Given the description of an element on the screen output the (x, y) to click on. 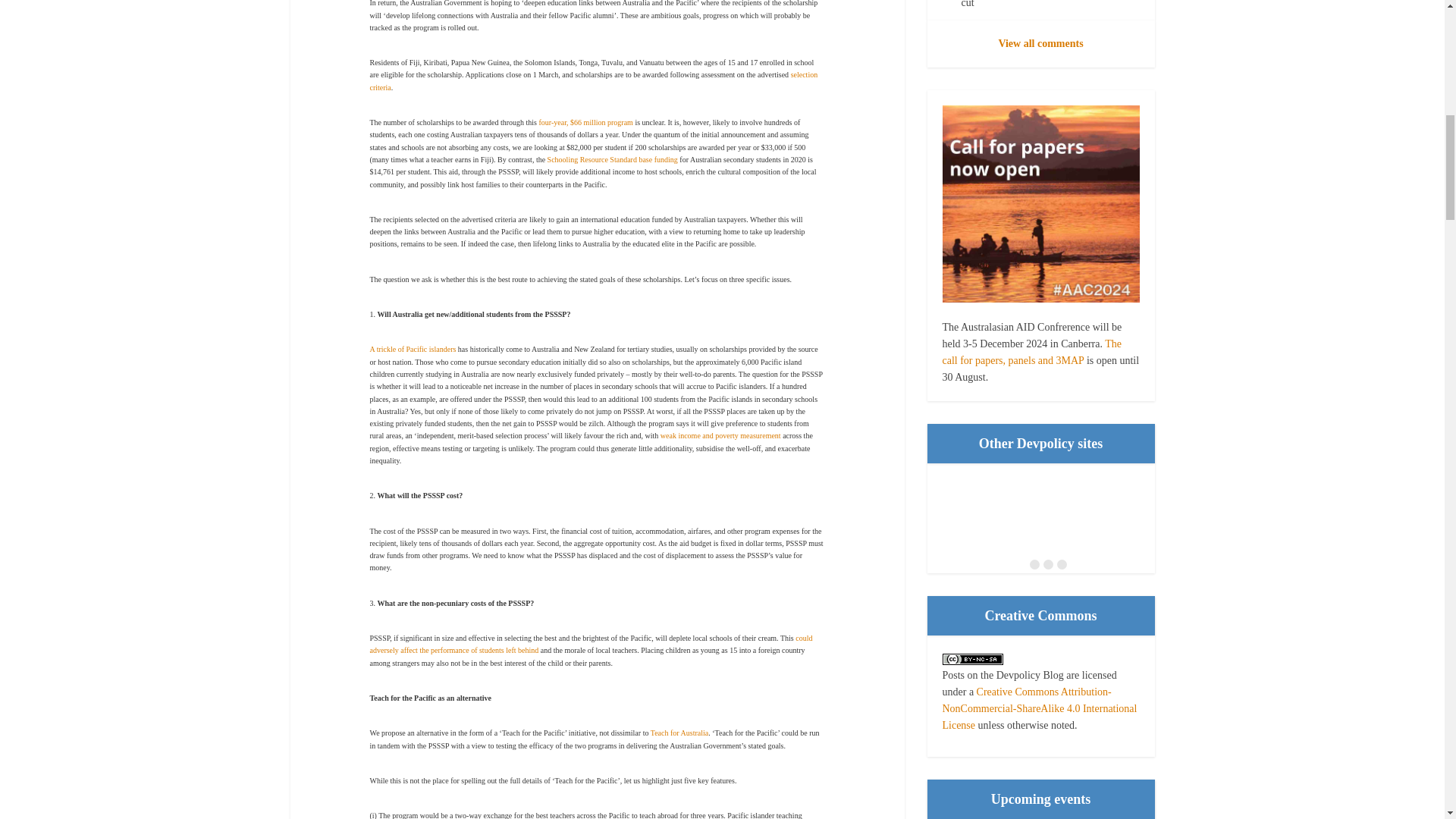
weak income and poverty measurement (720, 435)
selection criteria (593, 80)
Teach for Australia (679, 732)
A trickle of Pacific islanders (413, 348)
Schooling Resource Standard base funding (612, 159)
